Given the description of an element on the screen output the (x, y) to click on. 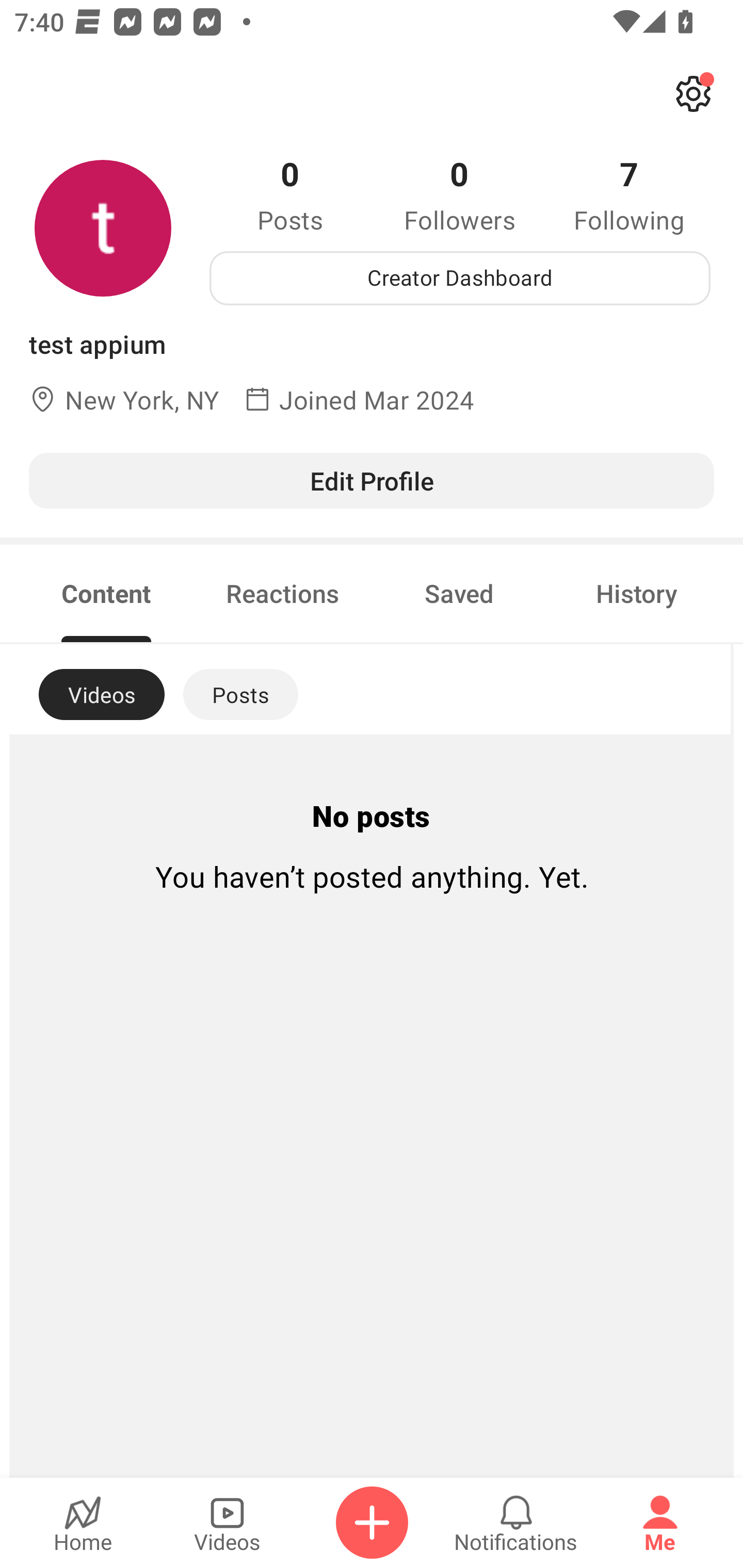
0 Followers (459, 194)
7 Following (629, 194)
Creator Dashboard (459, 277)
Edit Profile (371, 480)
Reactions (282, 593)
Saved (459, 593)
History (636, 593)
Posts (240, 694)
Home (83, 1522)
Videos (227, 1522)
Notifications (516, 1522)
